Given the description of an element on the screen output the (x, y) to click on. 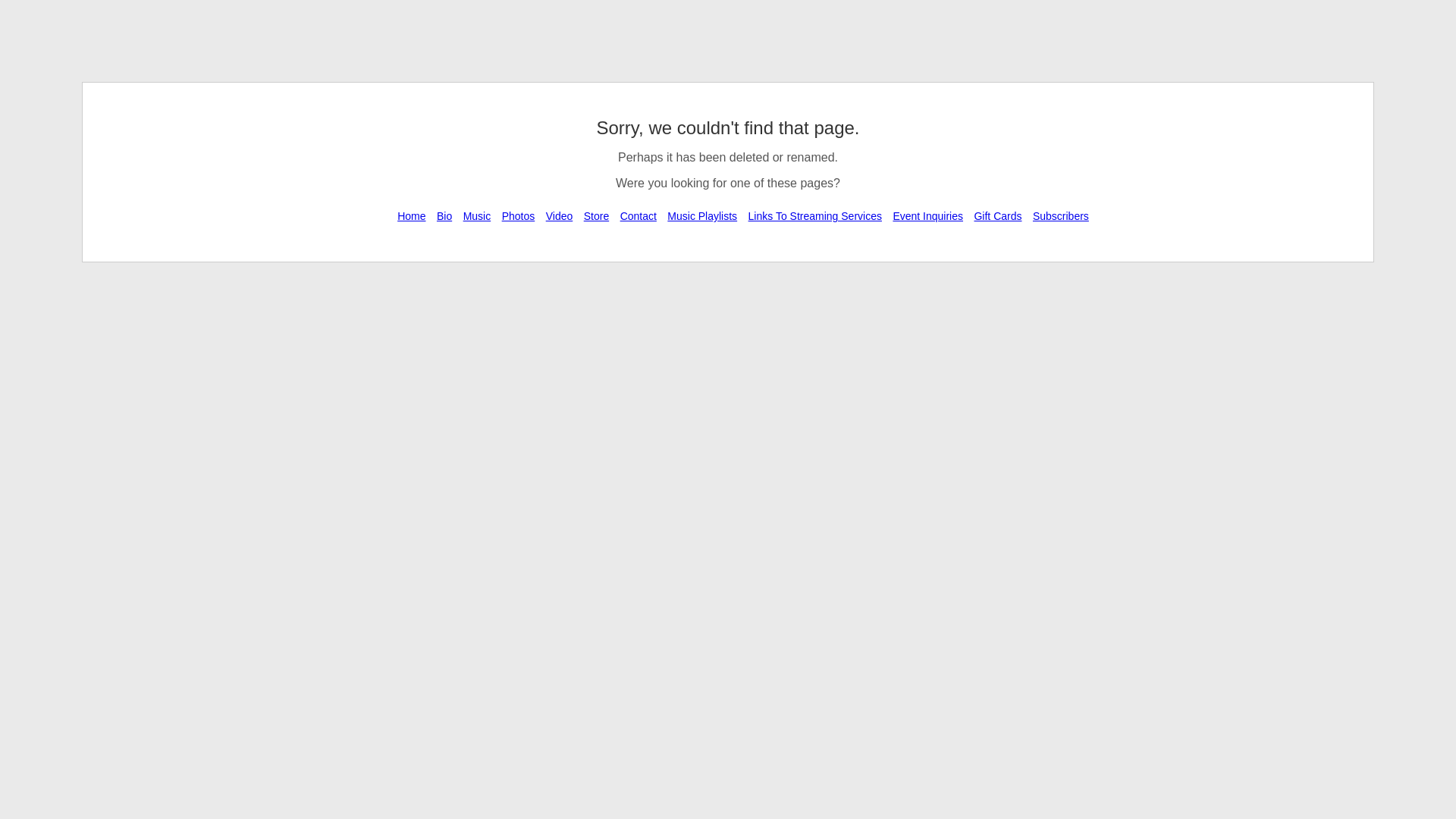
Subscribers Element type: text (1060, 216)
Music Playlists Element type: text (701, 216)
Video Element type: text (559, 216)
Music Element type: text (477, 216)
Event Inquiries Element type: text (927, 216)
Store Element type: text (596, 216)
Home Element type: text (411, 216)
Bio Element type: text (444, 216)
Contact Element type: text (638, 216)
Gift Cards Element type: text (997, 216)
Links To Streaming Services Element type: text (814, 216)
Photos Element type: text (518, 216)
